Given the description of an element on the screen output the (x, y) to click on. 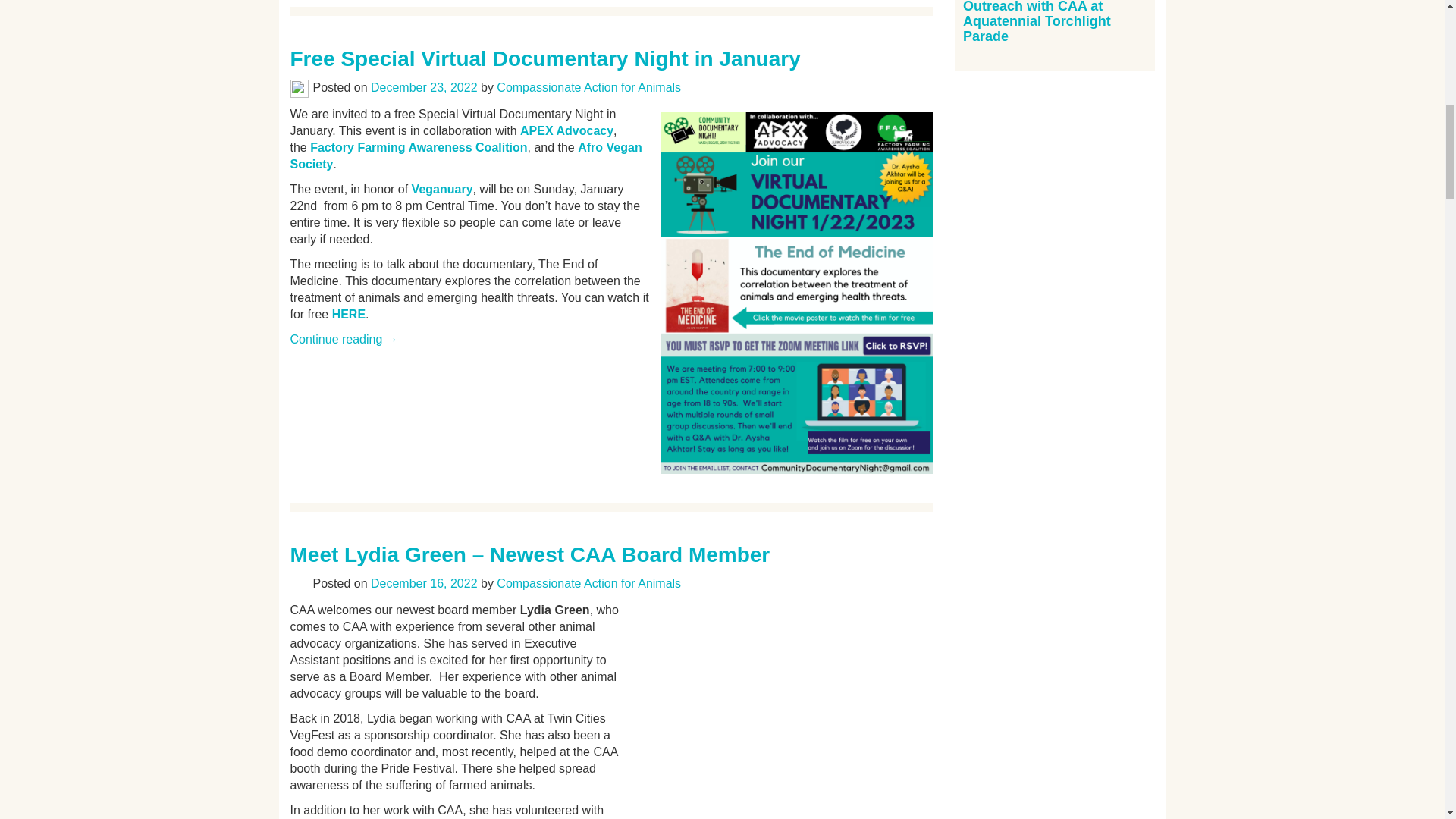
View all posts by Compassionate Action for Animals (588, 583)
December 23, 2022 (424, 87)
View all posts by Compassionate Action for Animals (588, 87)
Factory Farming Awareness Coalition (418, 146)
December 16, 2022 (424, 583)
12:06 pm (424, 583)
HERE (348, 314)
1:03 pm (424, 87)
Afro Vegan Society (465, 155)
Compassionate Action for Animals (588, 583)
APEX Advocacy (565, 130)
Compassionate Action for Animals (588, 87)
Free Special Virtual Documentary Night in January (544, 58)
Veganuary (442, 188)
